Given the description of an element on the screen output the (x, y) to click on. 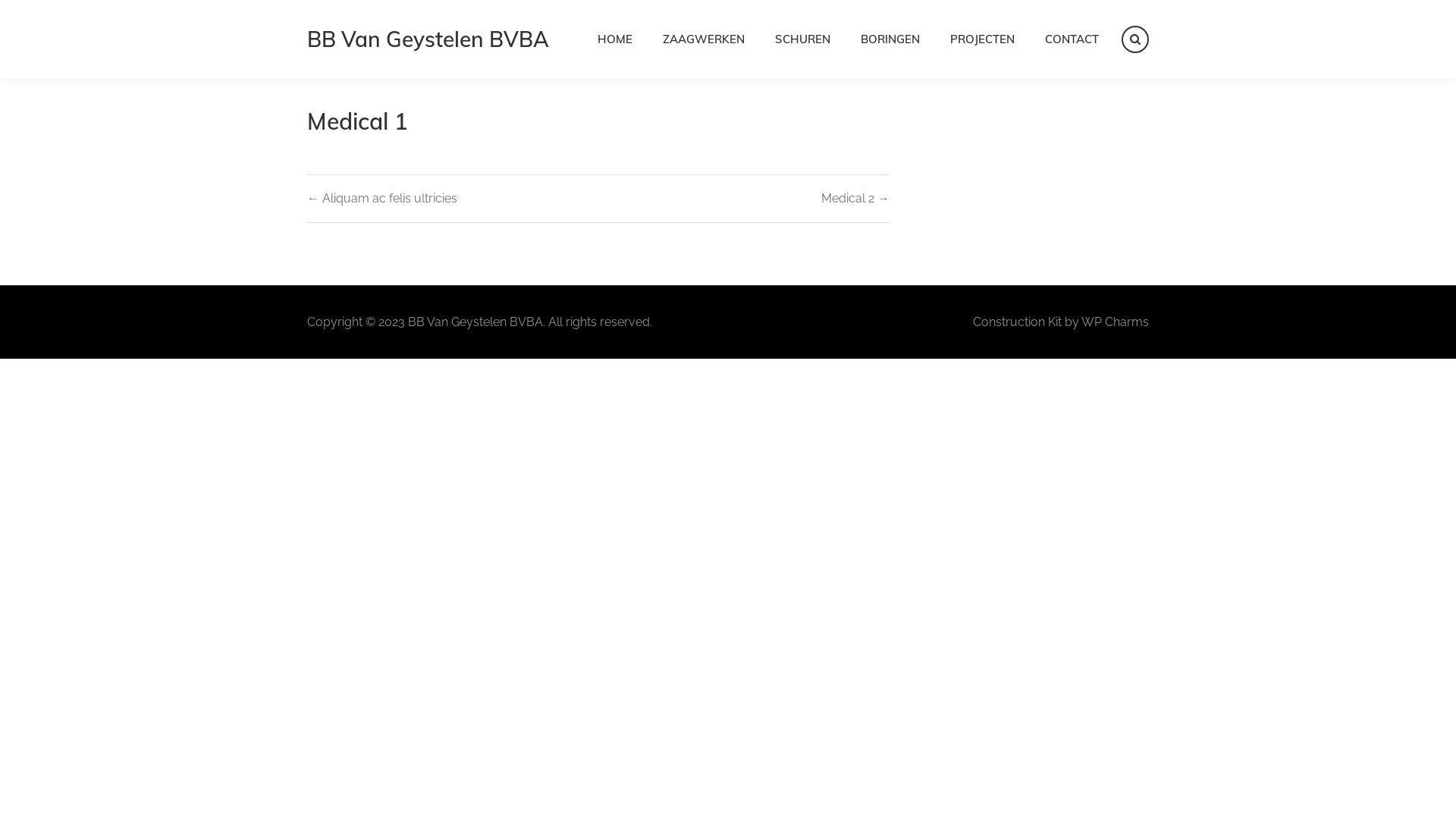
Skip to content Element type: text (0, 0)
PROJECTEN Element type: text (982, 39)
CONTACT Element type: text (1071, 39)
ZAAGWERKEN Element type: text (703, 39)
HOME Element type: text (614, 39)
WP Charms Element type: text (1114, 321)
BB Van Geystelen BVBA Element type: text (428, 38)
SCHUREN Element type: text (802, 39)
BORINGEN Element type: text (890, 39)
